Given the description of an element on the screen output the (x, y) to click on. 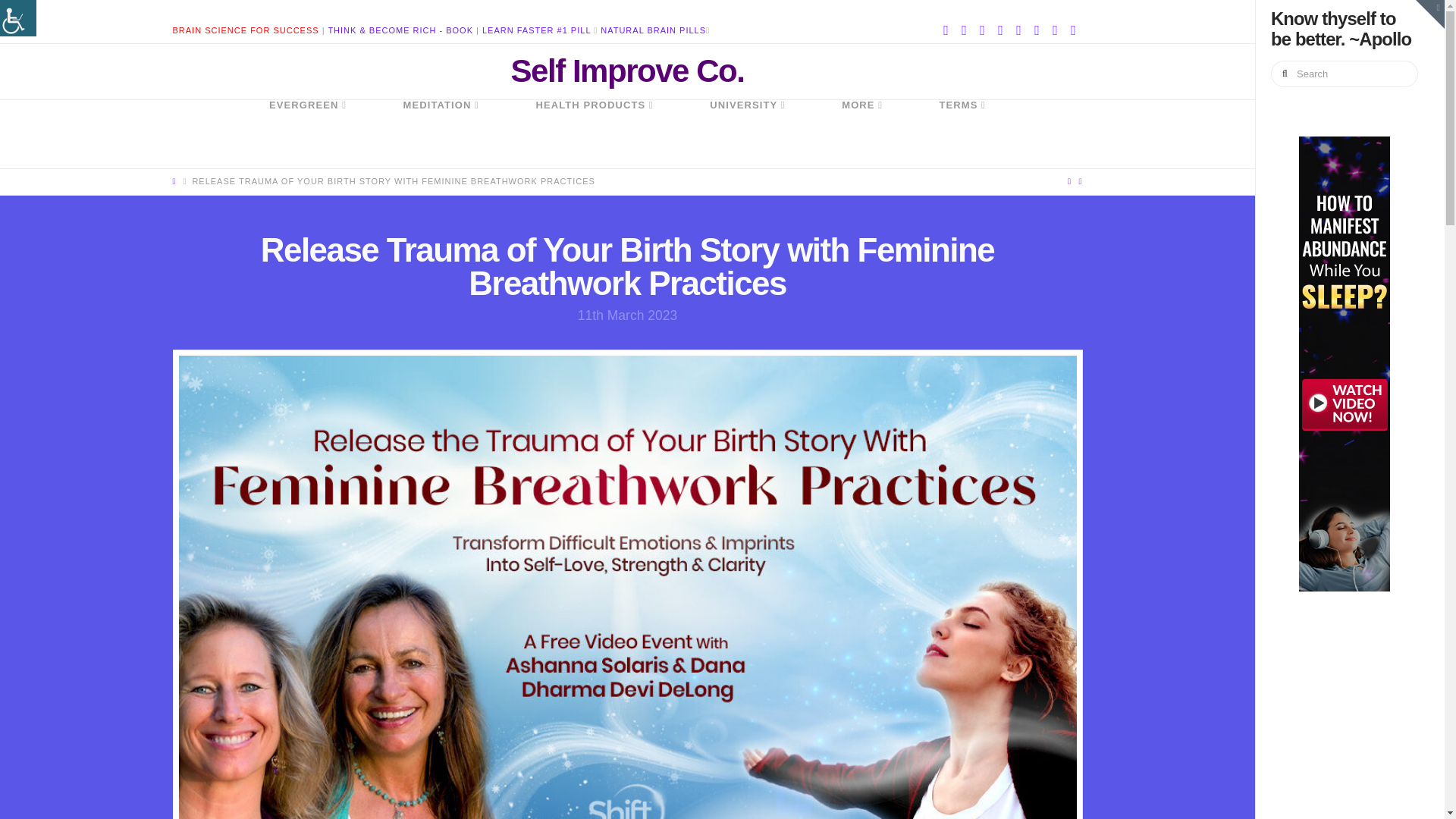
MEDITATION (440, 133)
Brain Science for Success (245, 30)
Know Thyself to become better! (627, 70)
NATURAL BRAIN PILLS (652, 30)
Self Improve Co. (627, 70)
BRAIN SCIENCE FOR SUCCESS (245, 30)
EVERGREEN (307, 133)
